Given the description of an element on the screen output the (x, y) to click on. 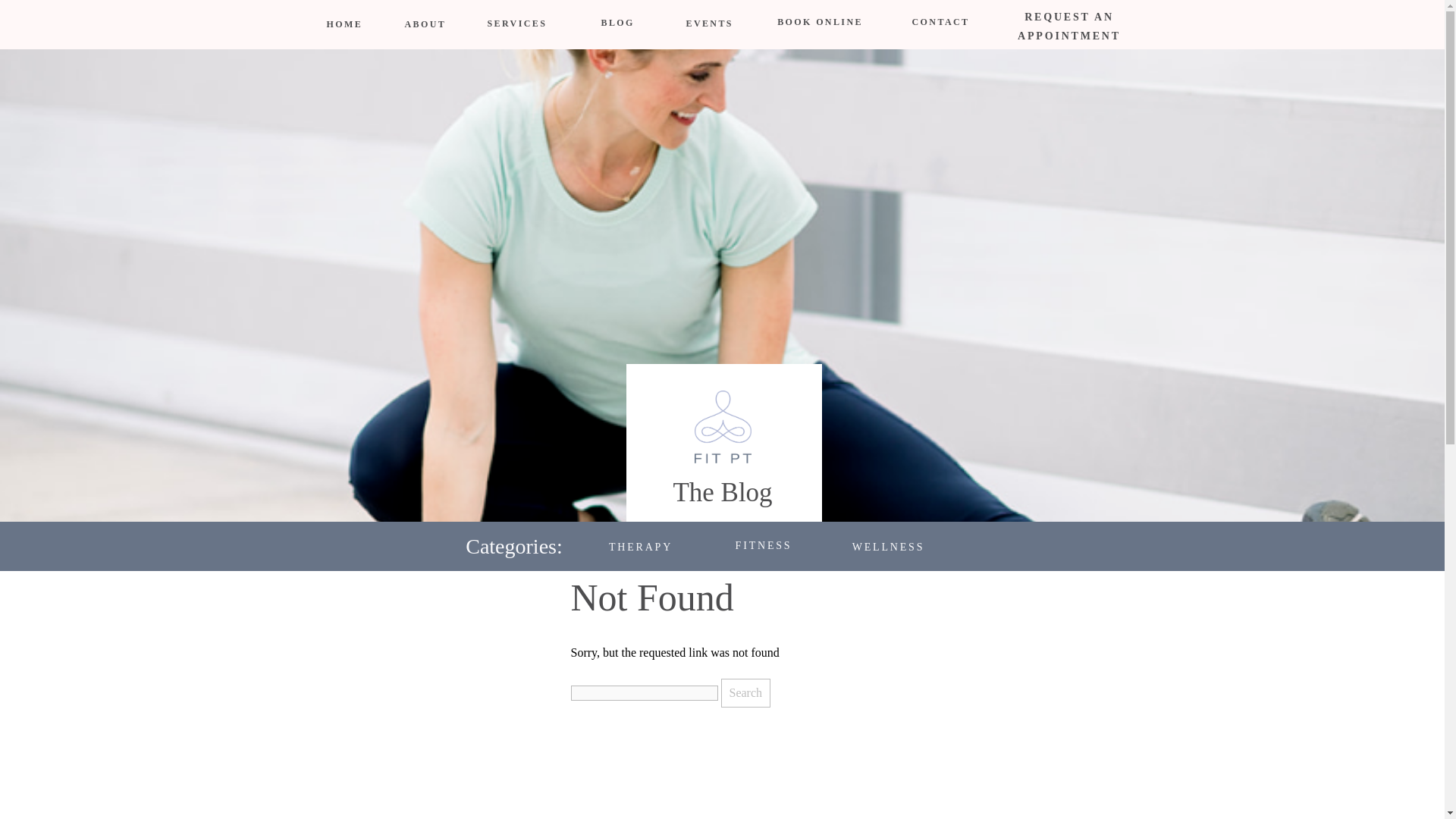
THERAPY (641, 543)
WELLNESS (888, 543)
SERVICES (513, 24)
REQUEST AN APPOINTMENT (1069, 24)
EVENTS (707, 24)
Search (745, 692)
ABOUT (422, 24)
HOME (342, 24)
CONTACT (939, 25)
BOOK ONLINE (820, 25)
